Given the description of an element on the screen output the (x, y) to click on. 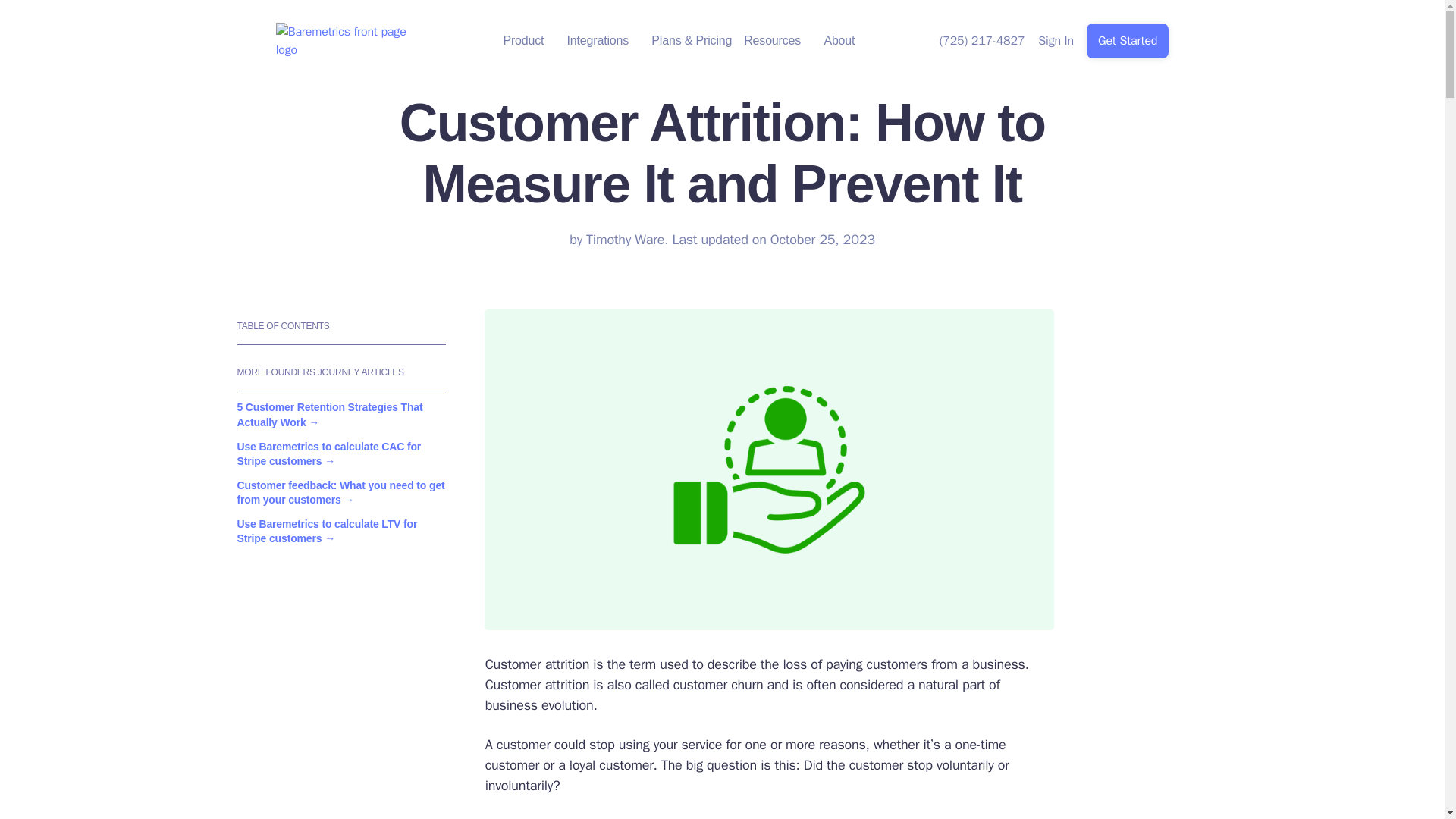
Baremetrics front page logo (344, 40)
